Given the description of an element on the screen output the (x, y) to click on. 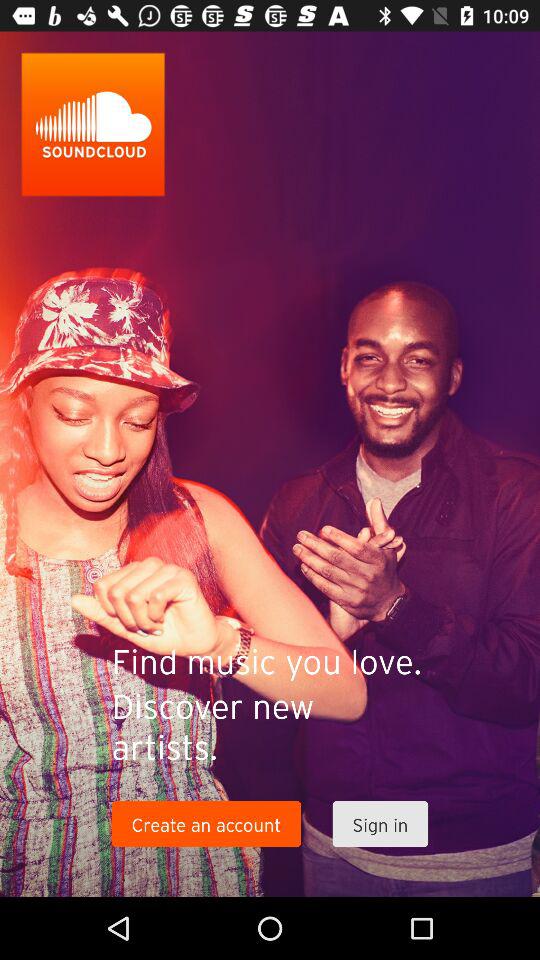
press icon below the discover new artists. item (206, 824)
